Given the description of an element on the screen output the (x, y) to click on. 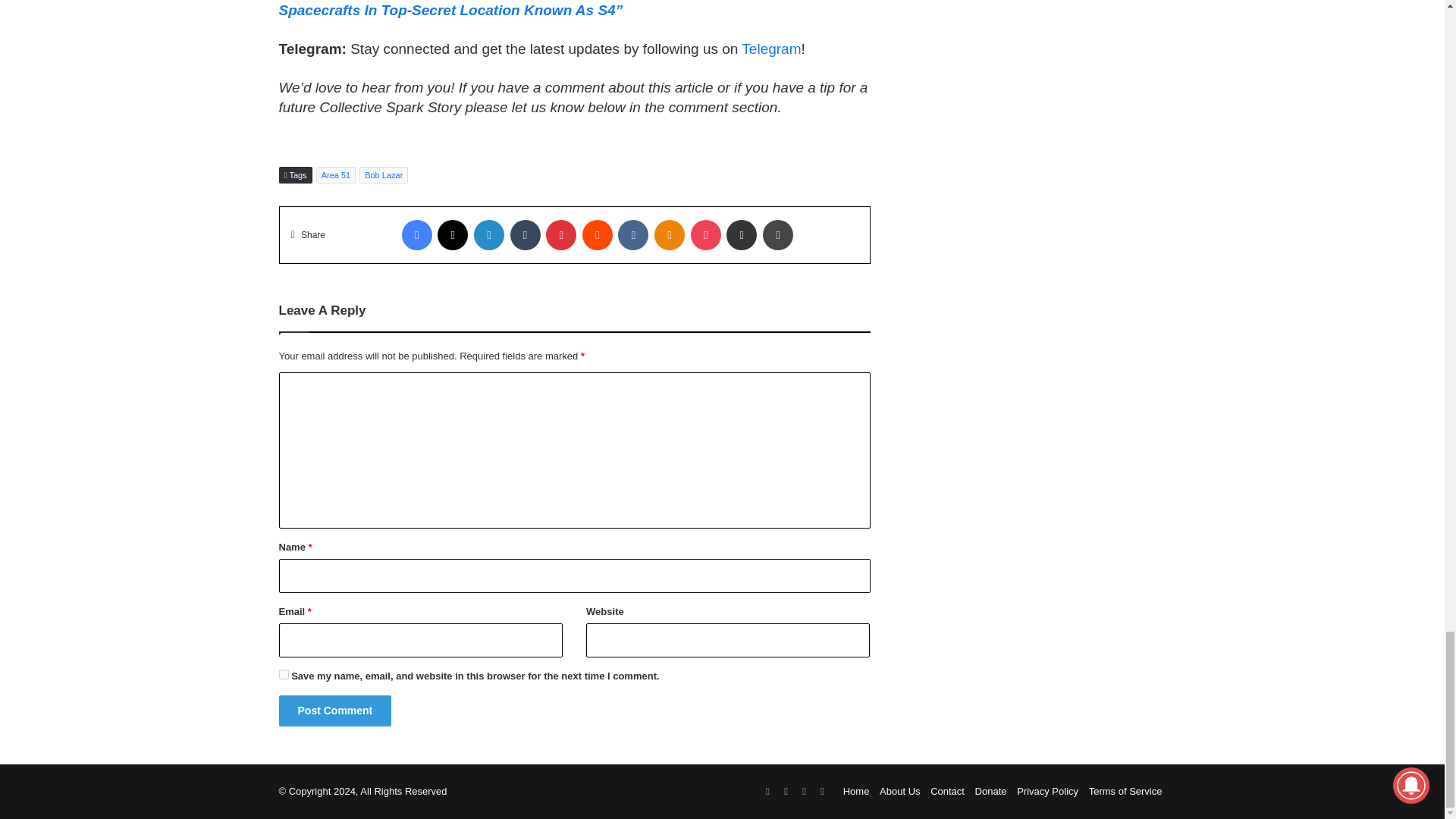
Reddit (597, 235)
Area 51 (335, 175)
VKontakte (632, 235)
LinkedIn (488, 235)
Telegram (770, 48)
Bob Lazar (383, 175)
Tumblr (524, 235)
Odnoklassniki (668, 235)
X (452, 235)
yes (283, 674)
Share via Email (741, 235)
Pocket (705, 235)
Pinterest (561, 235)
Facebook (416, 235)
Post Comment (335, 710)
